Given the description of an element on the screen output the (x, y) to click on. 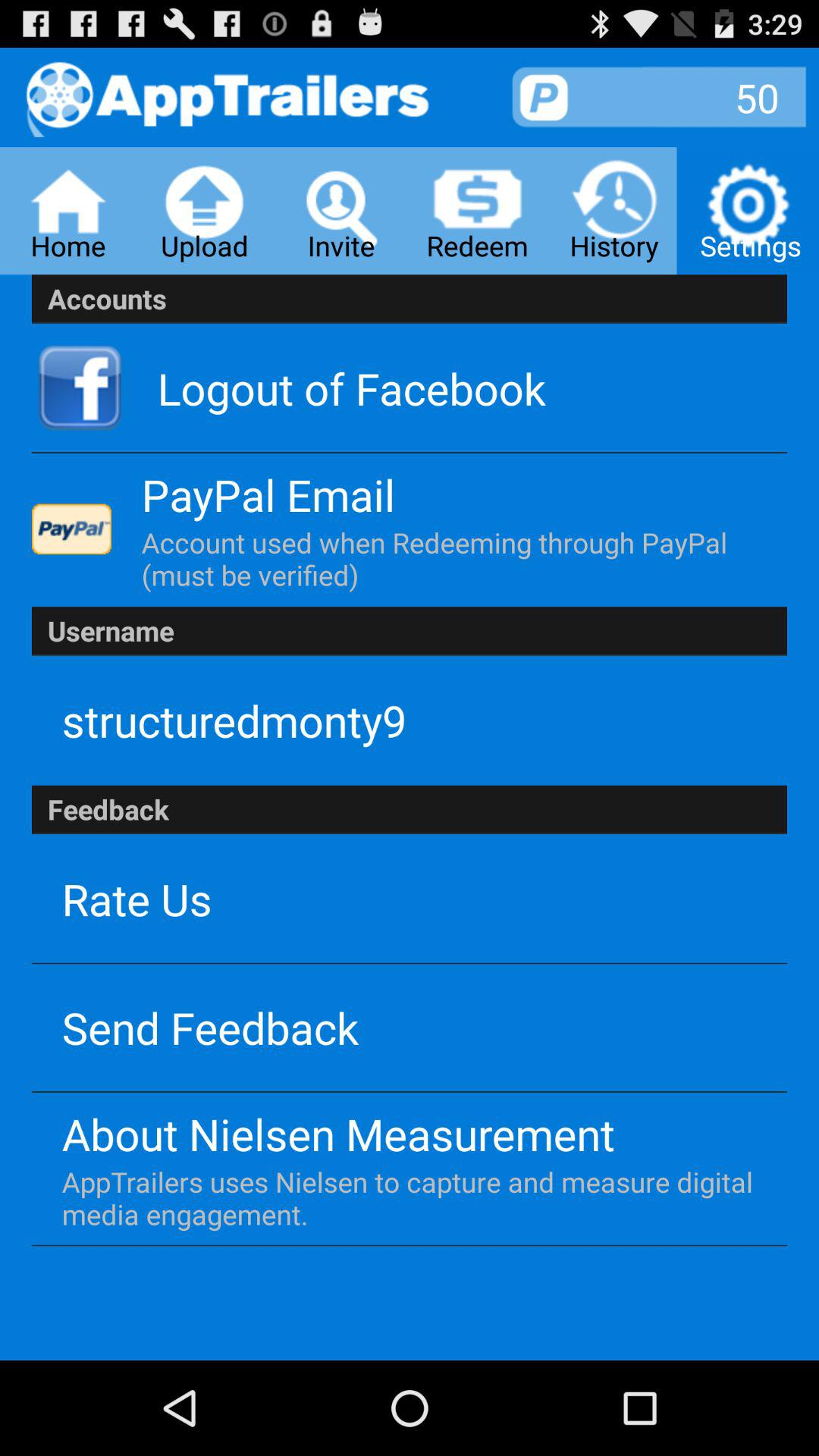
swipe until paypal email item (268, 494)
